Given the description of an element on the screen output the (x, y) to click on. 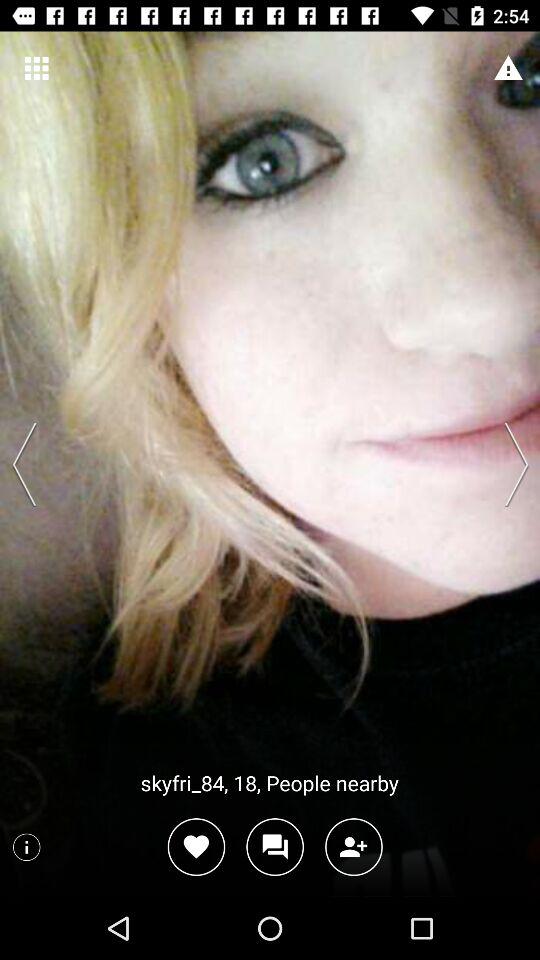
click to move option (510, 464)
